Given the description of an element on the screen output the (x, y) to click on. 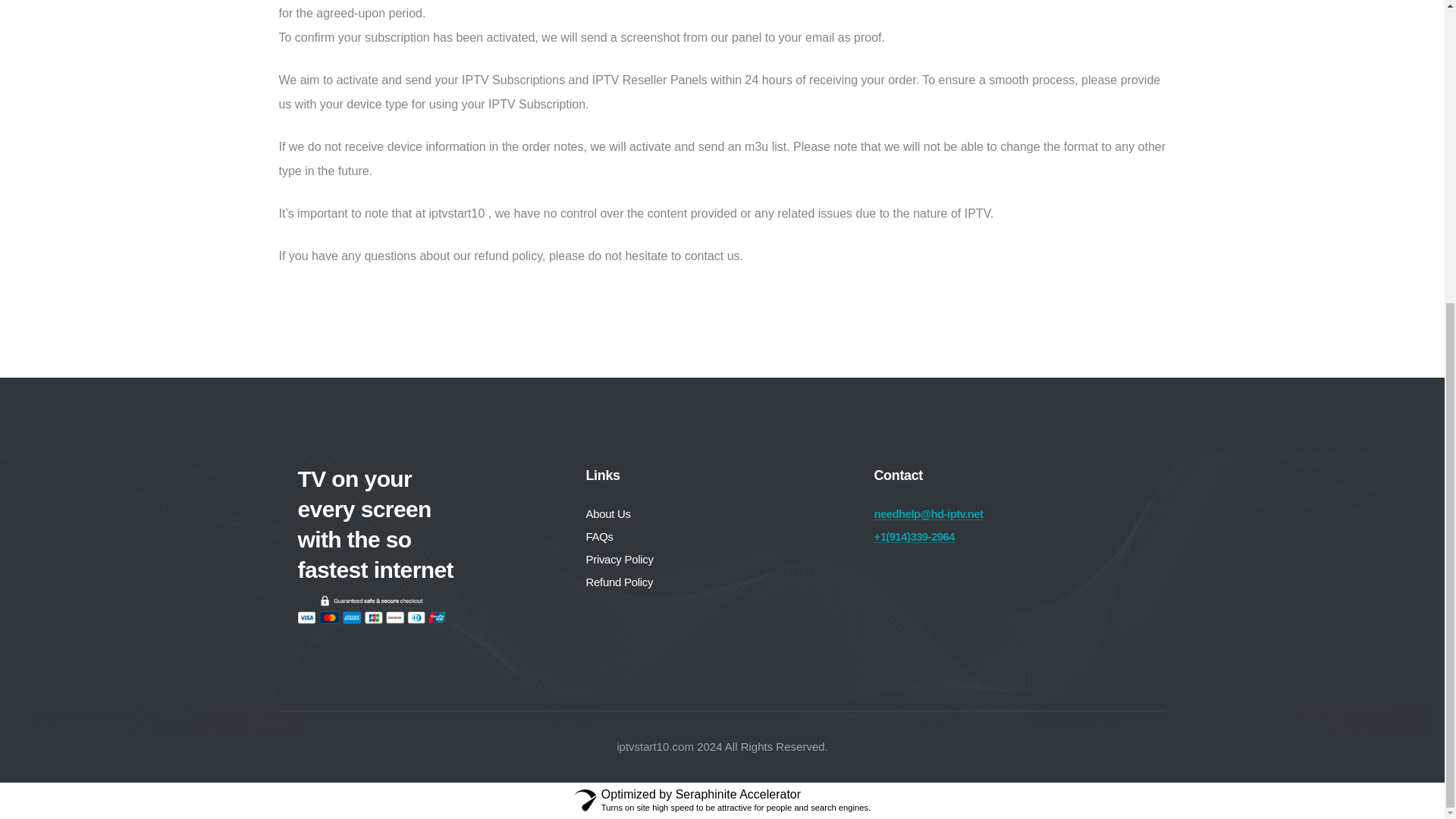
Privacy Policy (618, 558)
About Us (607, 513)
iptvstart10.com (654, 746)
Refund Policy (618, 581)
FAQs (598, 536)
